Given the description of an element on the screen output the (x, y) to click on. 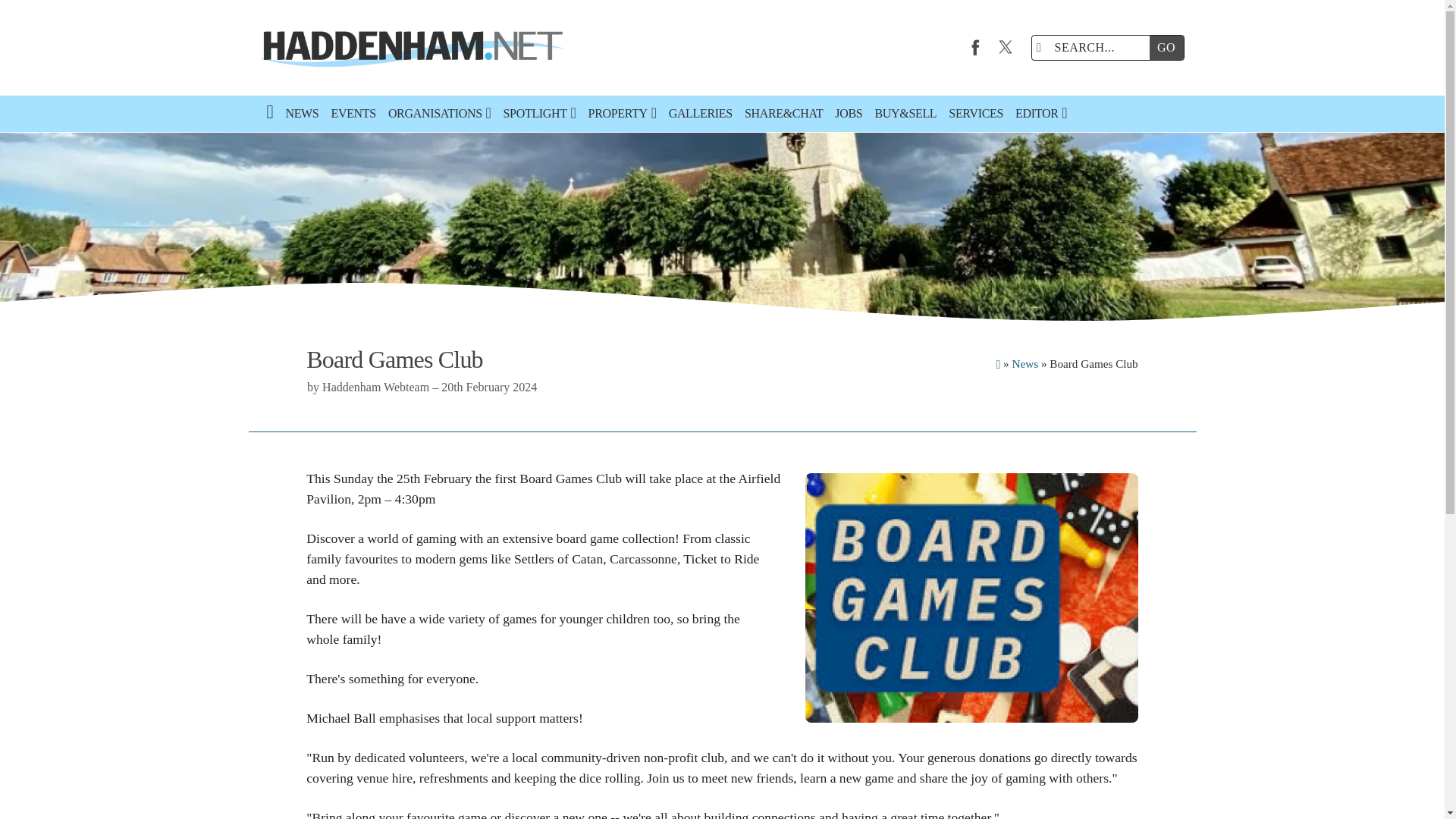
ORGANISATIONS (439, 113)
Haddenham.net Home (406, 47)
Visit our Facebook Page (975, 46)
SPOTLIGHT (539, 113)
GALLERIES (700, 113)
EVENTS (352, 113)
GO (1166, 47)
EDITOR (1041, 113)
News (1024, 363)
SEARCH... (1093, 47)
SERVICES (975, 113)
NEWS (301, 113)
Visit our X Feed (1004, 46)
